Given the description of an element on the screen output the (x, y) to click on. 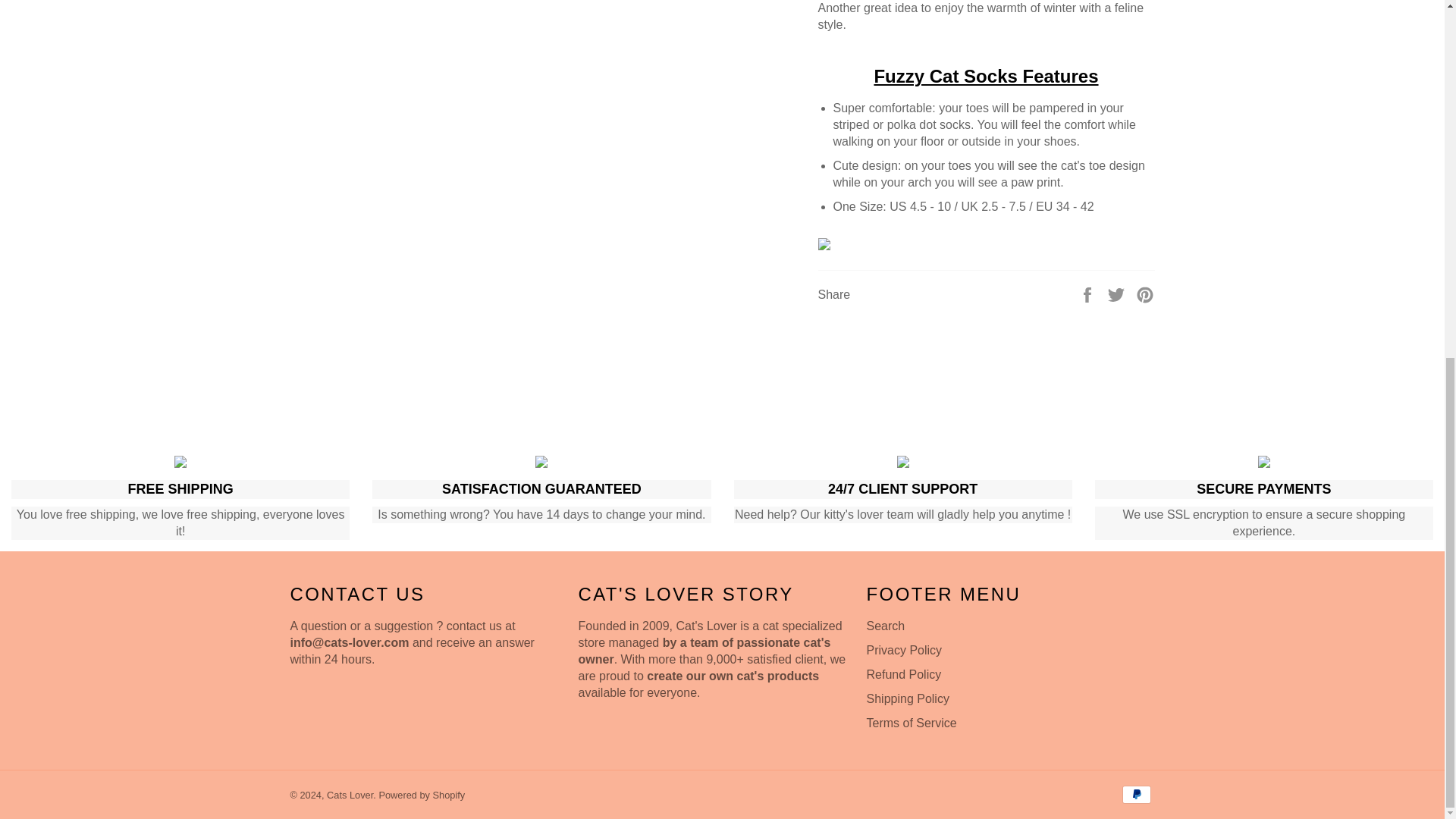
Share on Facebook (1088, 293)
Tweet on Twitter (1117, 293)
Pin on Pinterest (1144, 293)
